Given the description of an element on the screen output the (x, y) to click on. 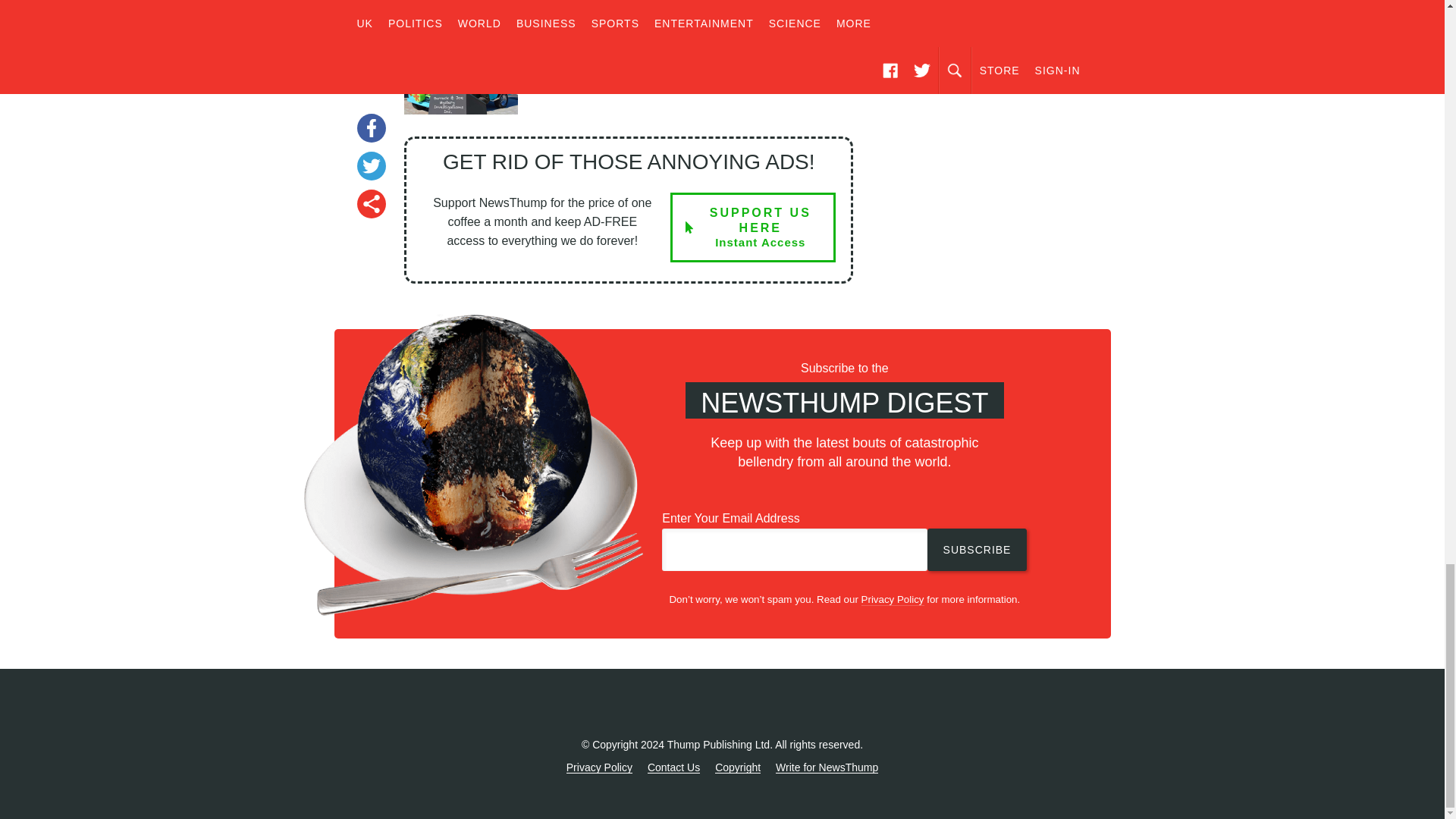
Subscribe (752, 227)
